Given the description of an element on the screen output the (x, y) to click on. 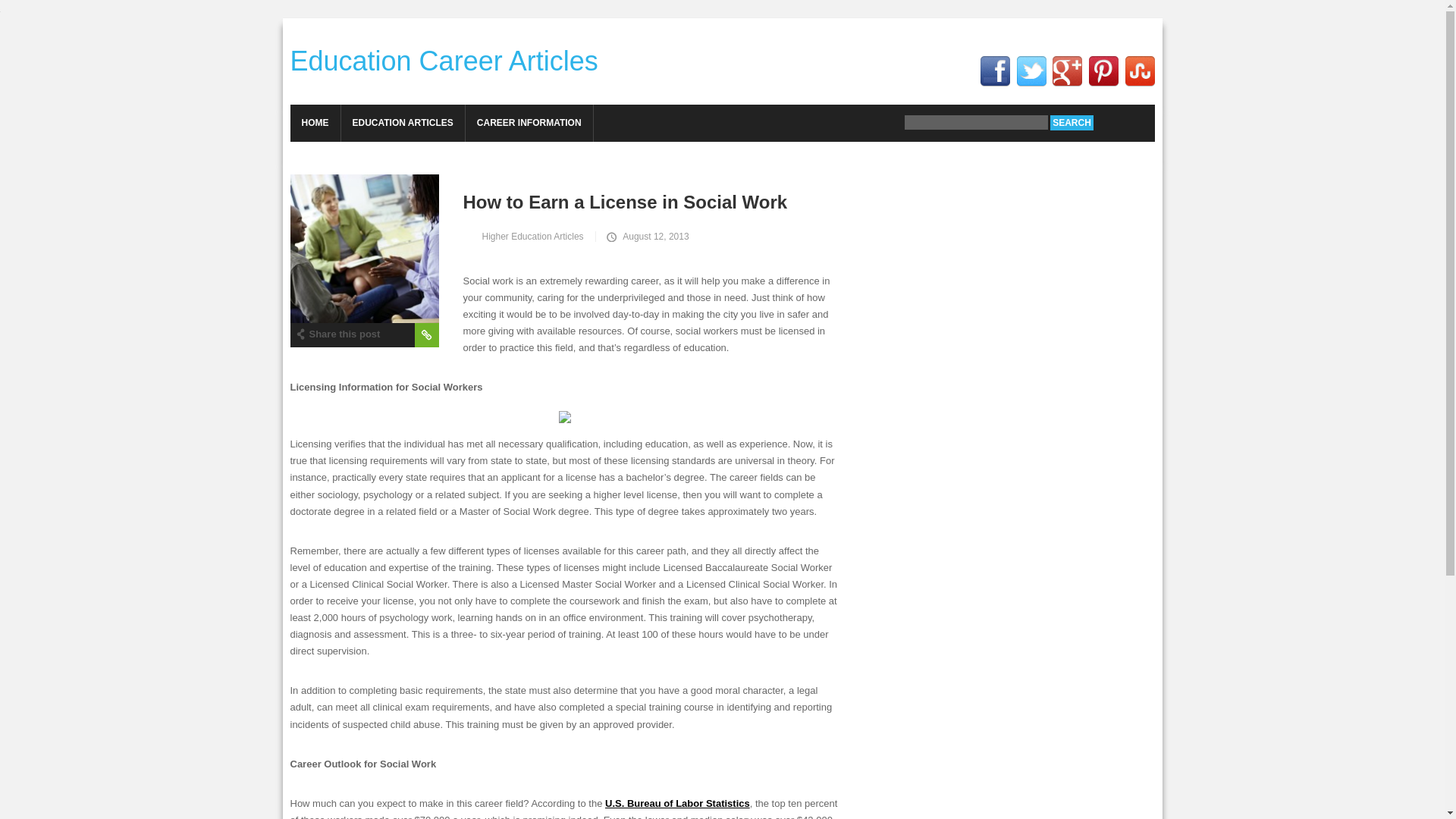
U.S. Bureau of Labor Statistics (677, 803)
Share this post (336, 332)
4:15 PM (646, 235)
Education Career Articles (442, 60)
Permalink (425, 334)
EDUCATION ARTICLES (402, 122)
CAREER INFORMATION (528, 122)
Permalink to How to Earn a License in Social Work (363, 248)
Permalink to How to Earn a License in Social Work (572, 200)
HOME (314, 122)
